Given the description of an element on the screen output the (x, y) to click on. 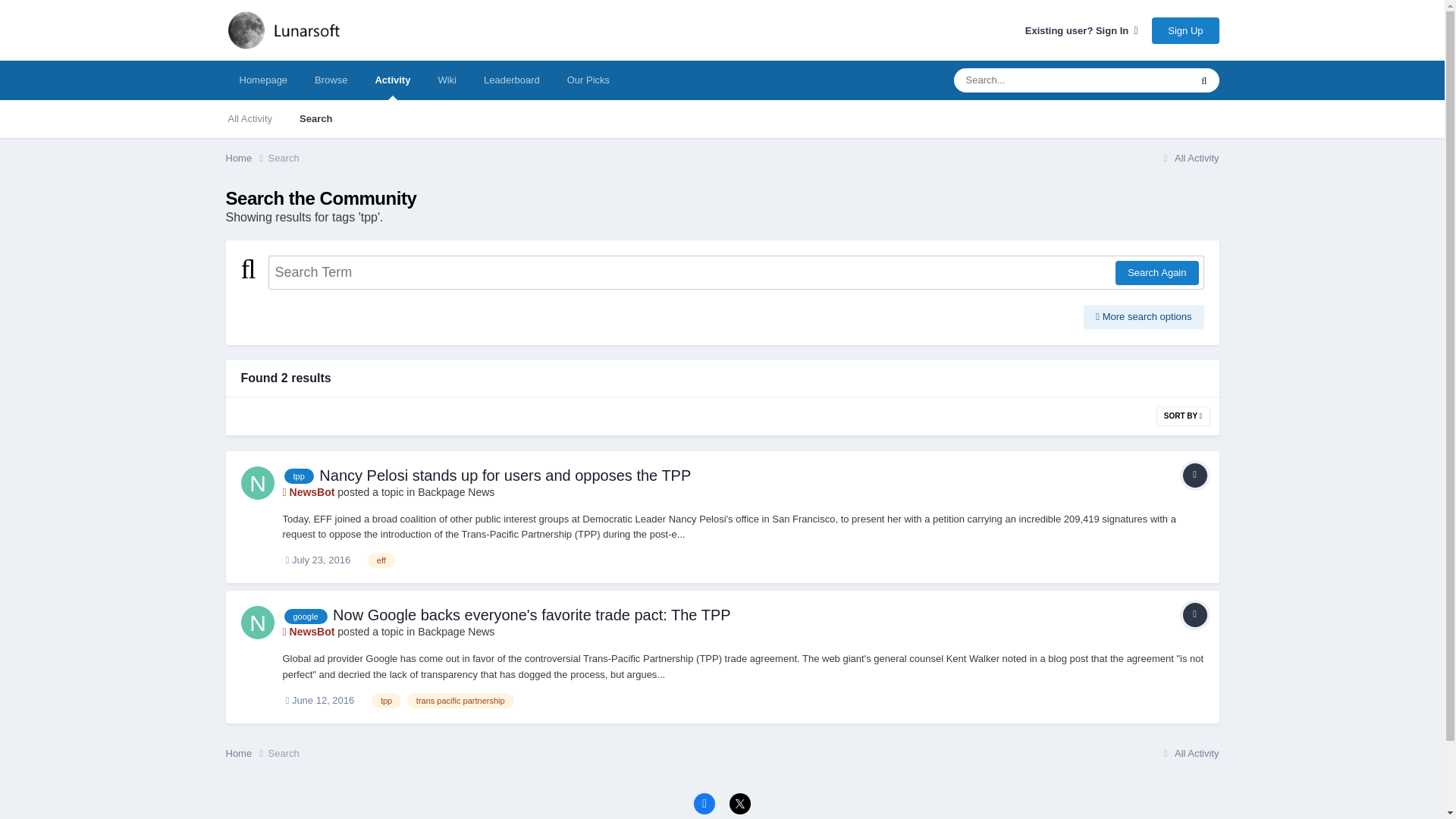
Leaderboard (511, 79)
Home (246, 158)
Find other content tagged with 'trans pacific partnership' (460, 700)
Go to NewsBot's profile (308, 491)
Find other content tagged with 'eff' (381, 560)
Find other content tagged with 'tpp' (386, 700)
Wiki (446, 79)
Sign Up (1184, 29)
Activity (392, 79)
Home (246, 753)
Go to NewsBot's profile (258, 482)
Go to NewsBot's profile (258, 622)
Existing user? Sign In   (1081, 30)
All Activity (249, 118)
Go to NewsBot's profile (308, 631)
